Given the description of an element on the screen output the (x, y) to click on. 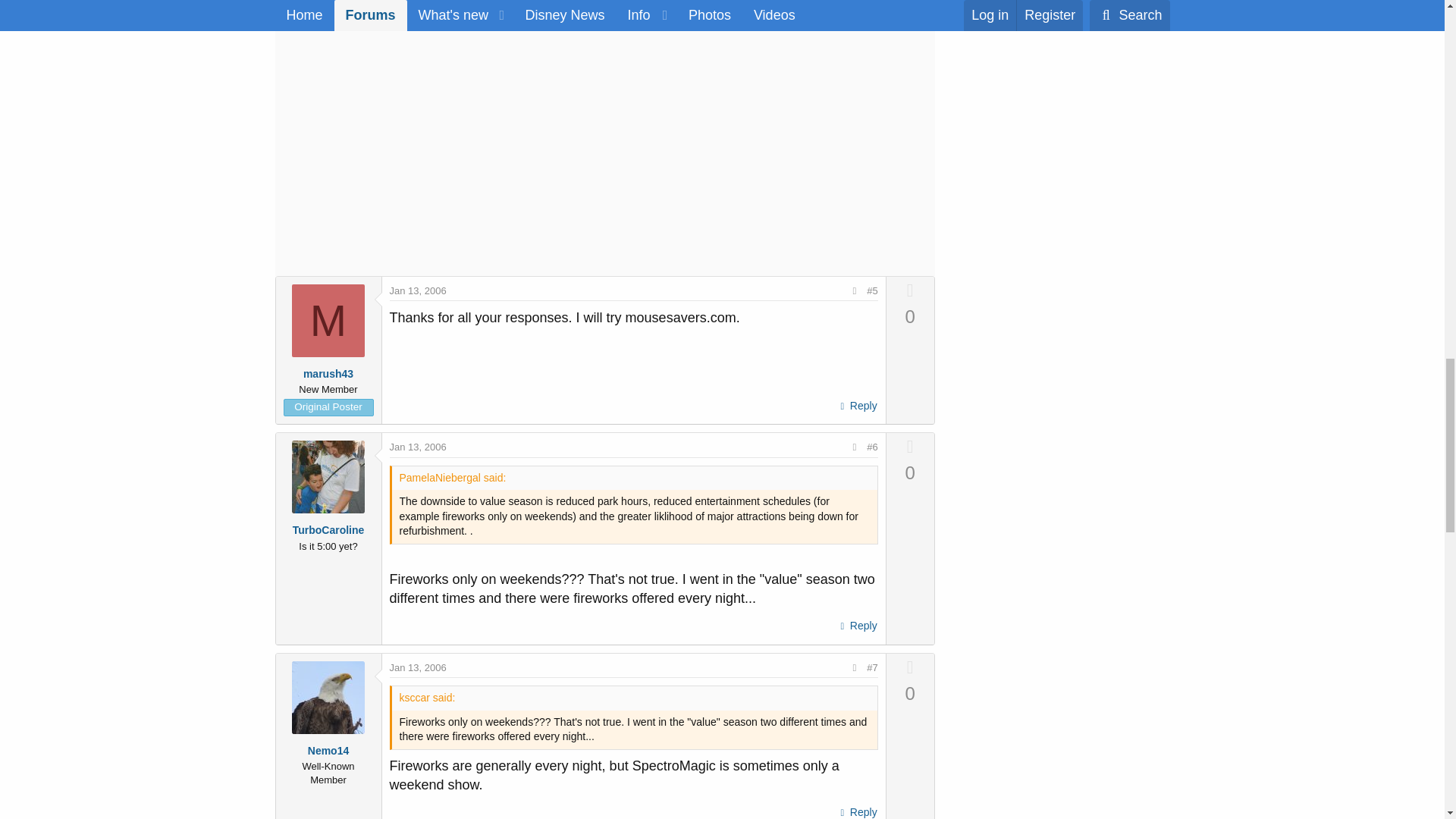
Jan 13, 2006 at 12:57 PM (418, 667)
Reply, quoting this message (857, 405)
Jan 13, 2006 at 12:50 PM (418, 446)
Jan 13, 2006 at 8:53 AM (418, 290)
Reply, quoting this message (857, 626)
